Given the description of an element on the screen output the (x, y) to click on. 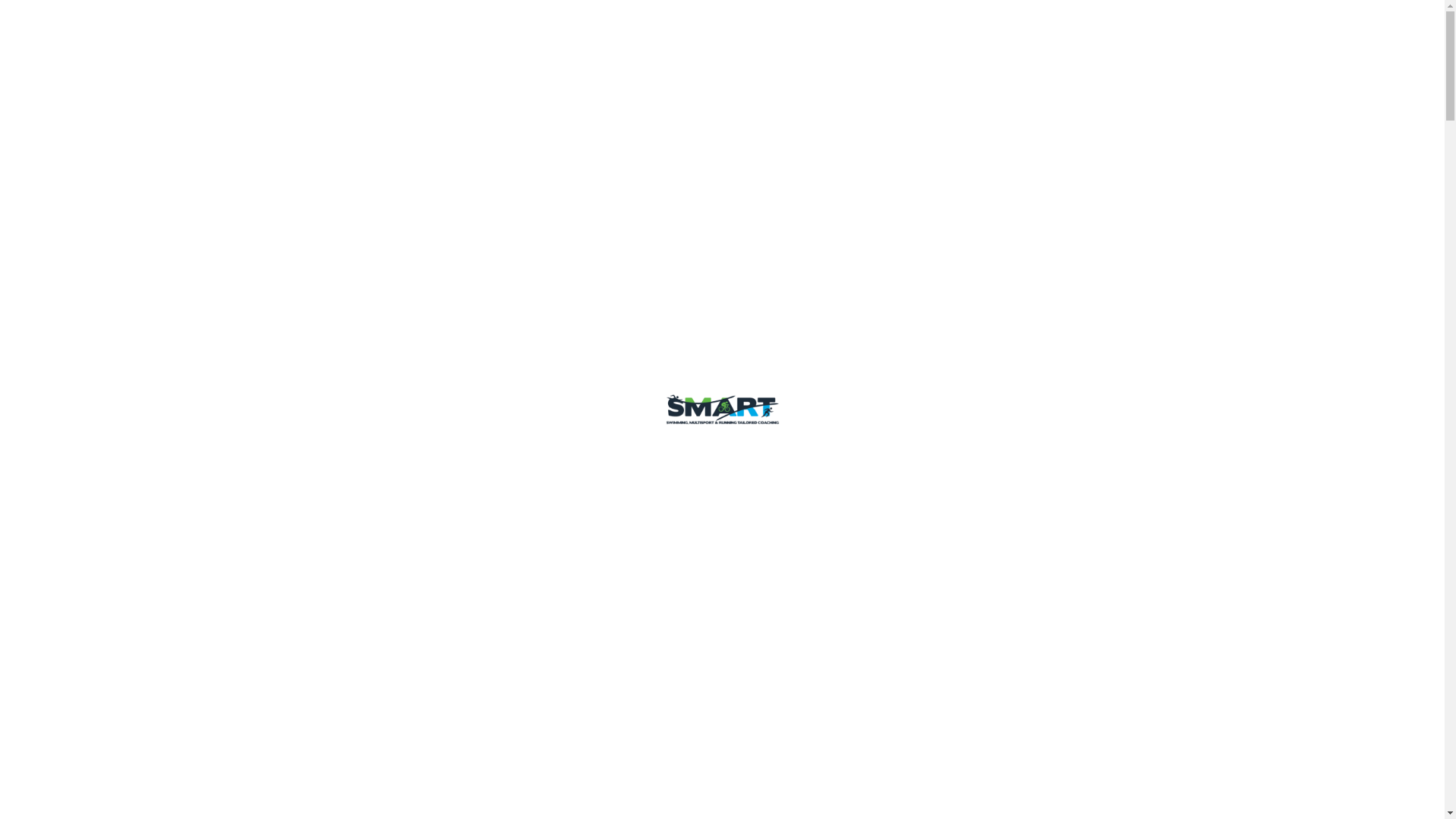
ABOUT Element type: text (771, 36)
SMART PILATES Element type: text (1019, 35)
TESTIMONIALS Element type: text (909, 35)
Contact Us Element type: text (343, 408)
HOME Element type: text (612, 35)
FAQ Element type: text (831, 35)
PROGRAMS Element type: text (687, 36)
CONTACT Element type: text (1114, 35)
